Given the description of an element on the screen output the (x, y) to click on. 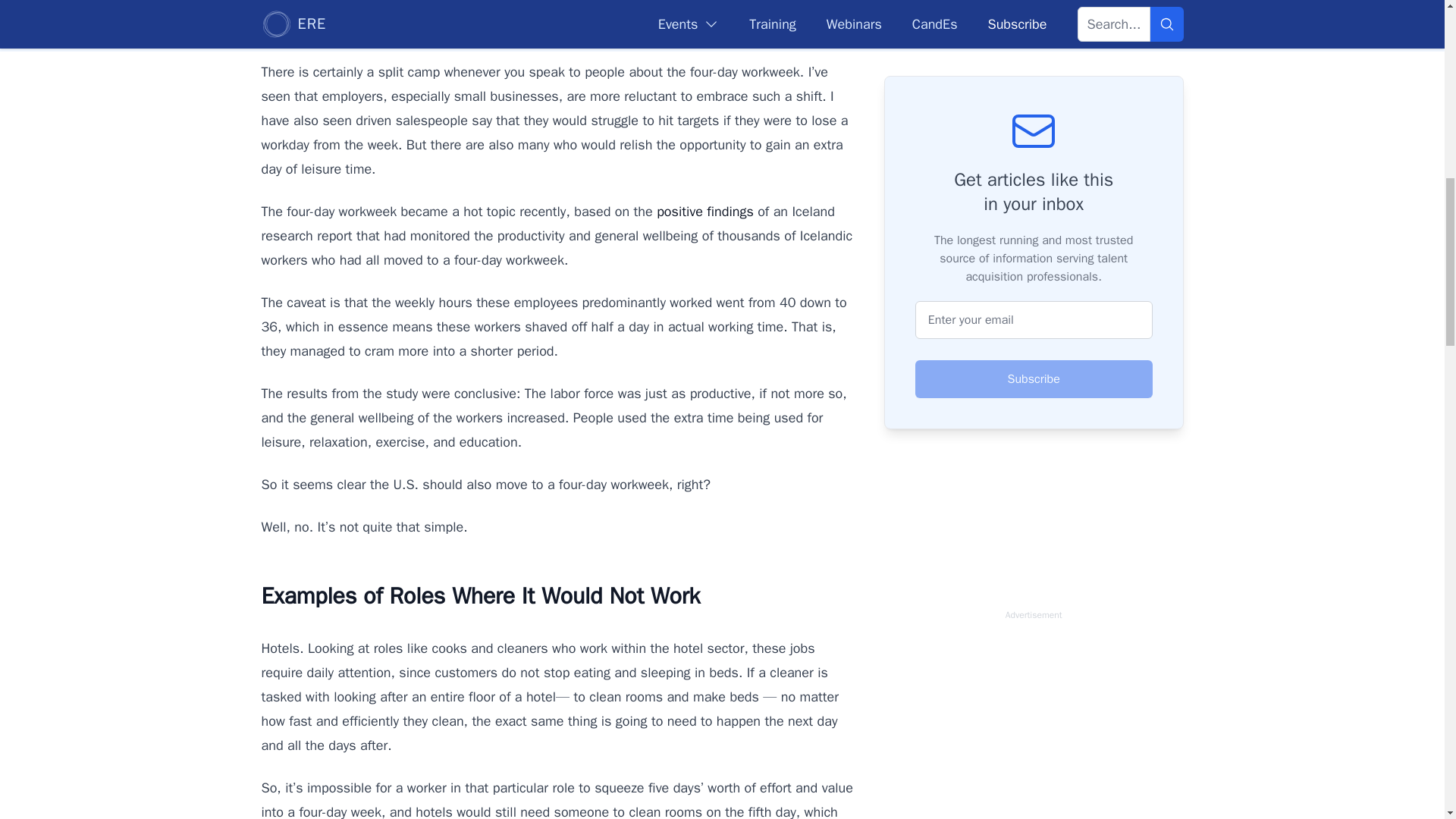
positive findings (705, 211)
3rd party ad content (1033, 723)
